Given the description of an element on the screen output the (x, y) to click on. 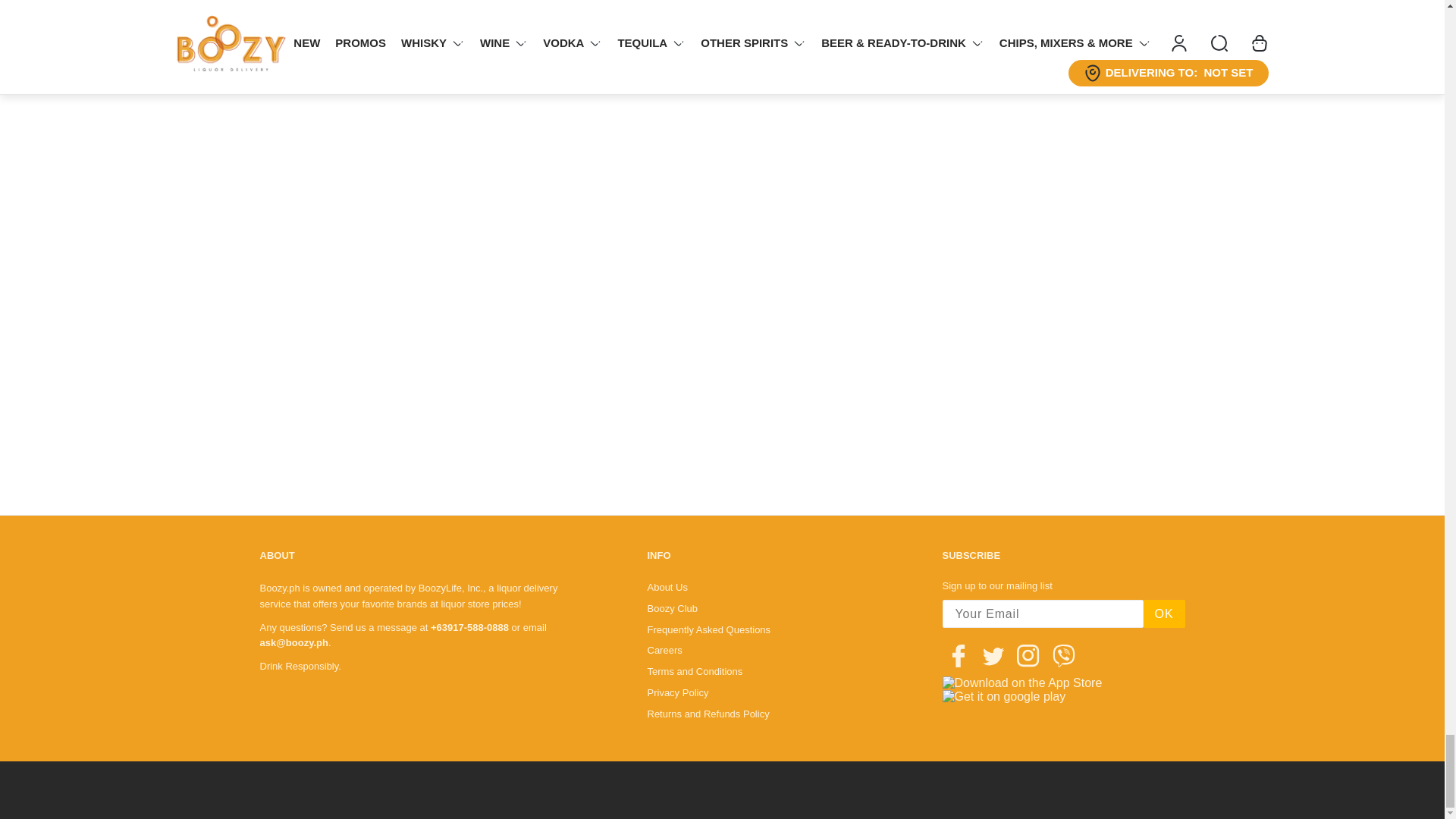
OK (1163, 613)
